Given the description of an element on the screen output the (x, y) to click on. 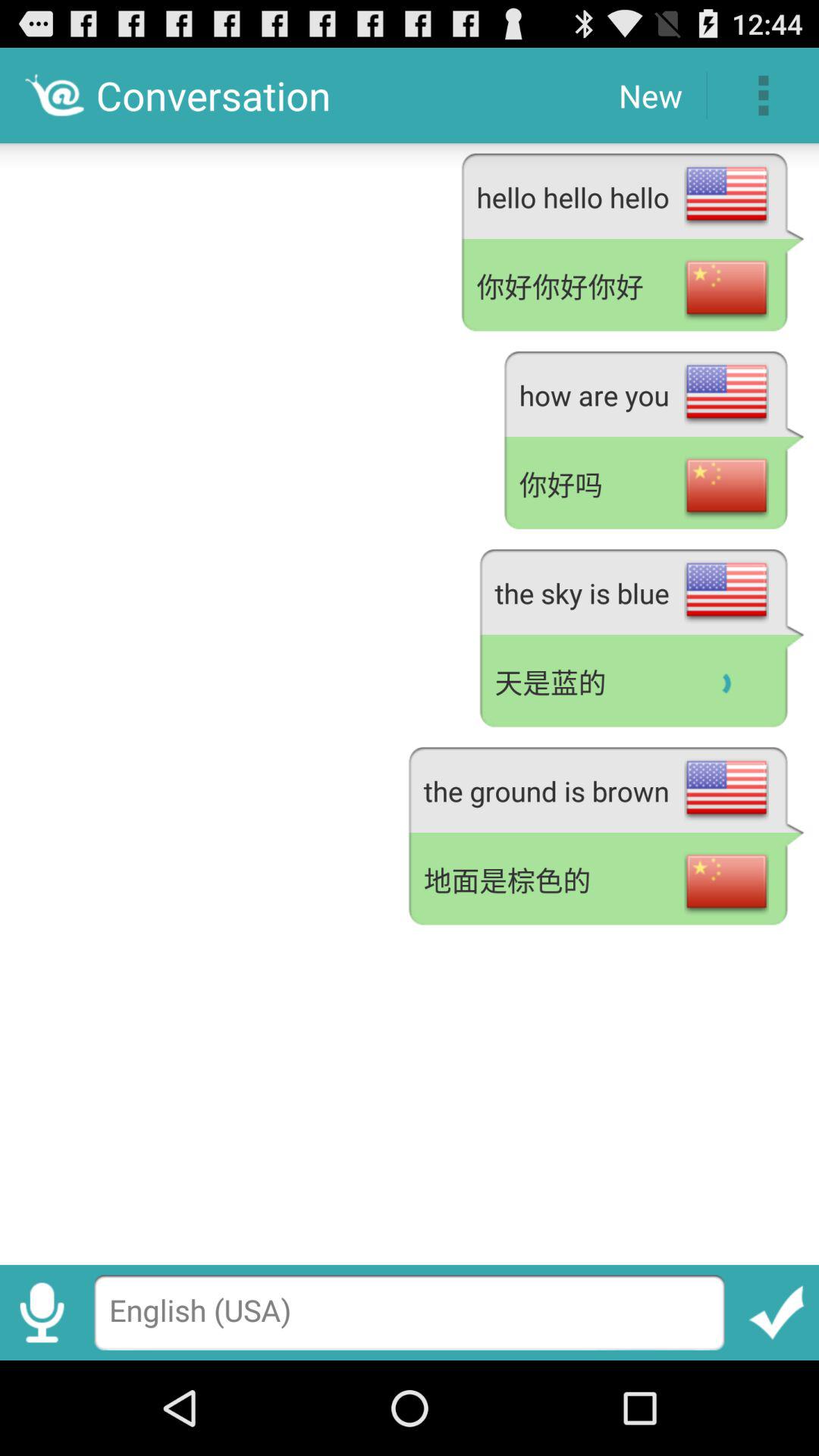
flip until hello hello hello item (632, 193)
